Given the description of an element on the screen output the (x, y) to click on. 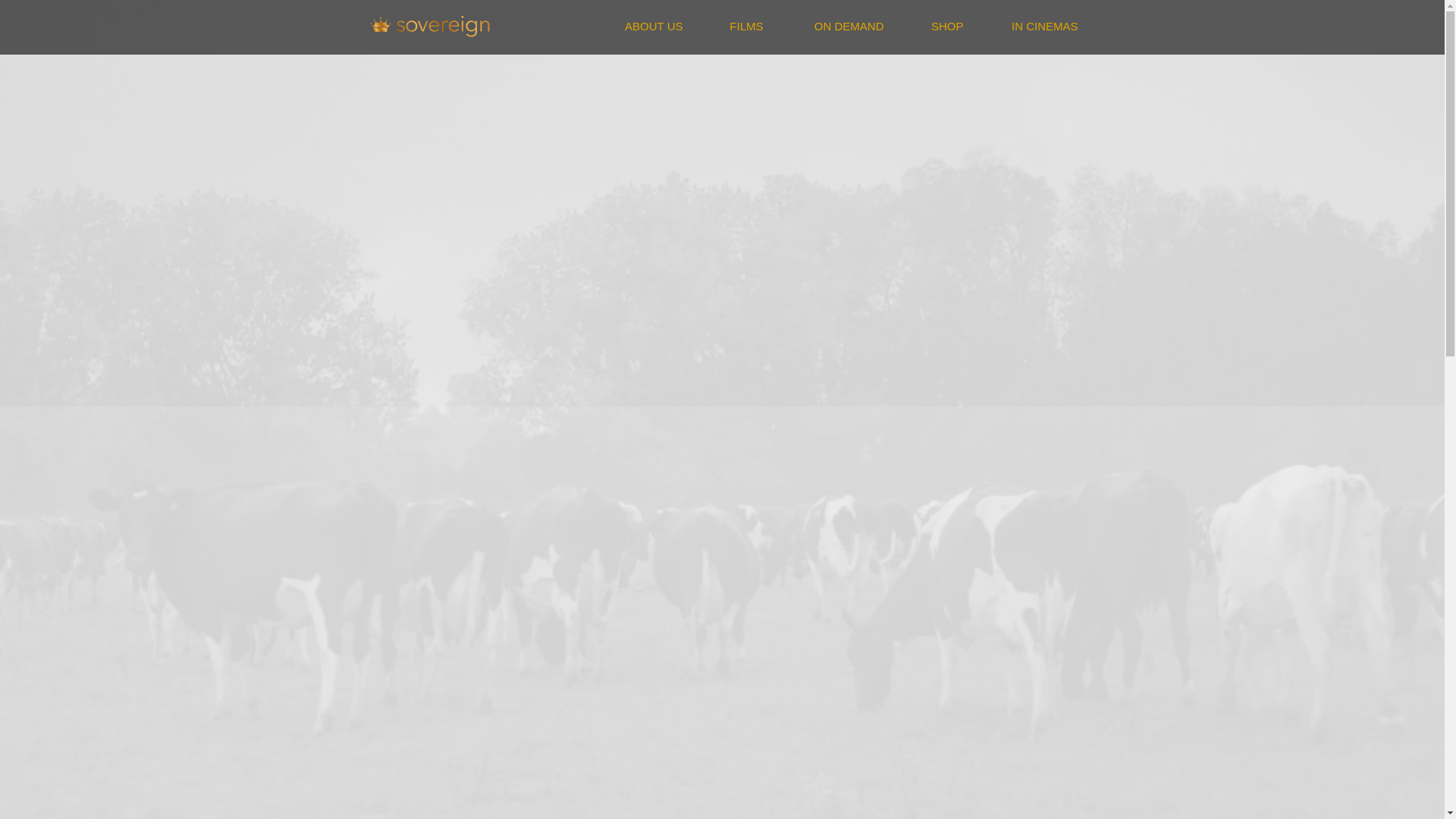
SHOP (934, 26)
FILMS (734, 26)
ON DEMAND (834, 26)
ABOUT US (641, 26)
IN CINEMAS (1032, 26)
